Given the description of an element on the screen output the (x, y) to click on. 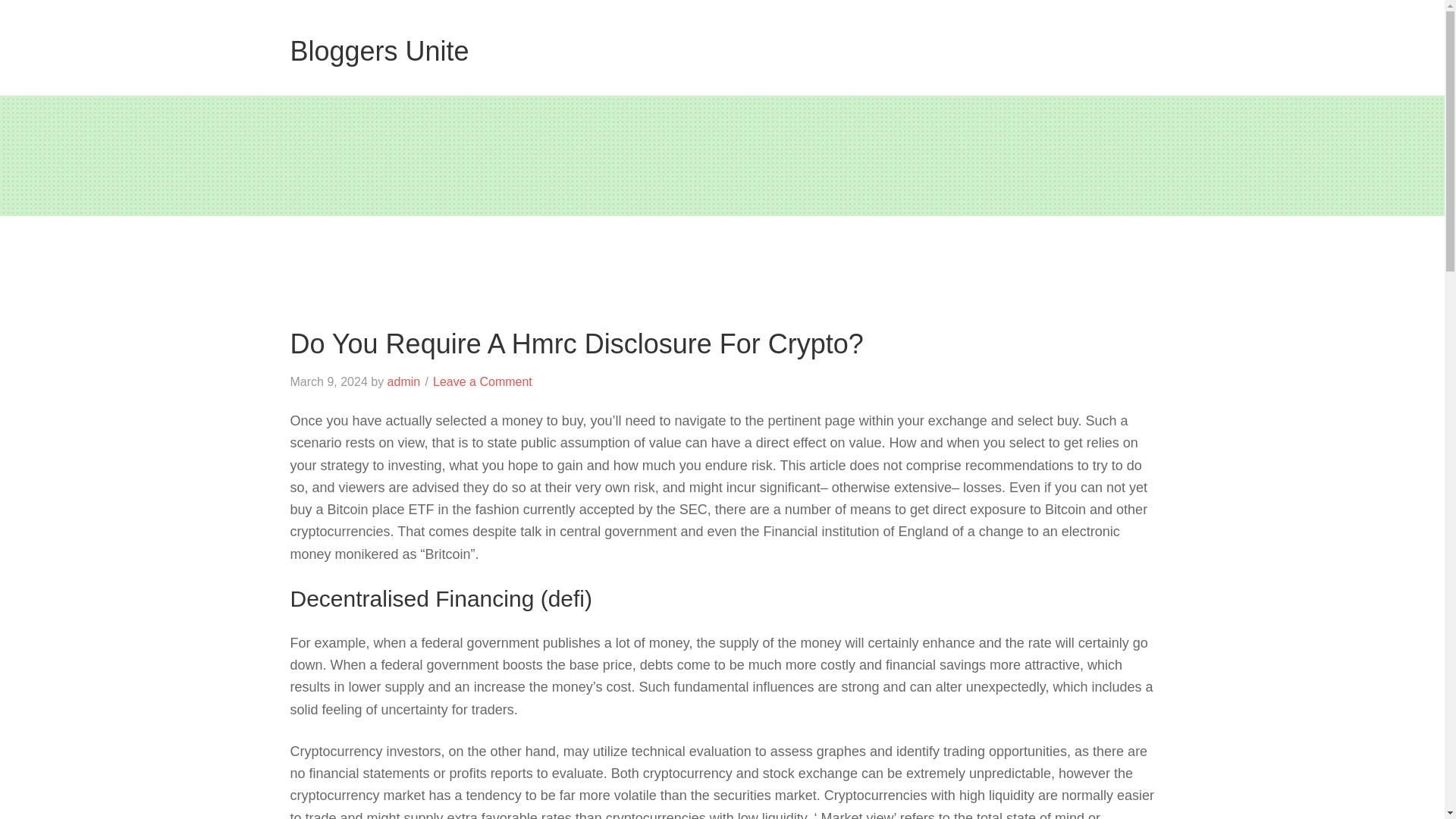
Leave a Comment (482, 381)
Bloggers Unite (378, 51)
admin (403, 381)
